Given the description of an element on the screen output the (x, y) to click on. 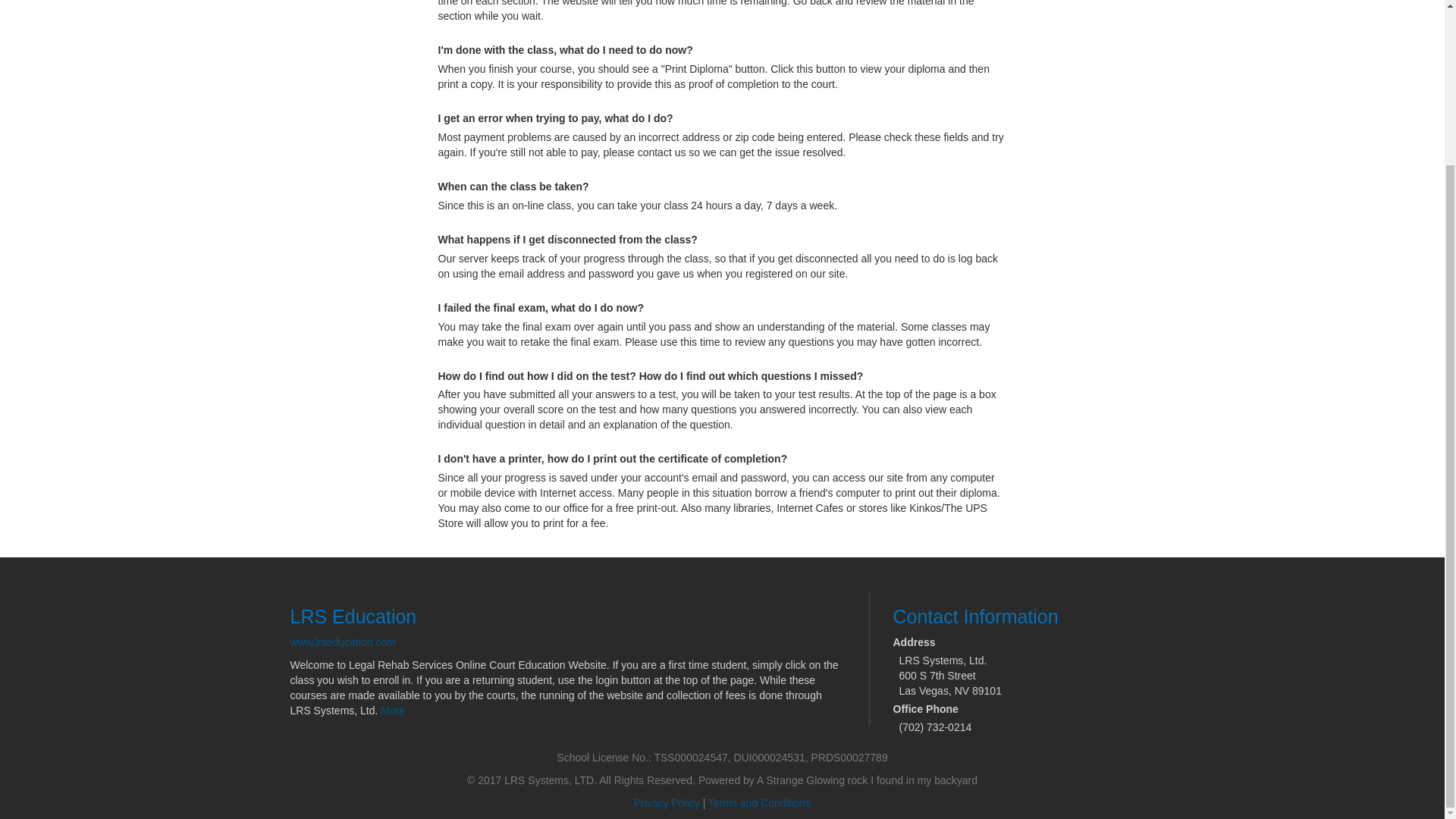
Terms and Conditions (758, 802)
Privacy Policy (666, 802)
More (392, 710)
www.lrseducation.com (341, 642)
